Given the description of an element on the screen output the (x, y) to click on. 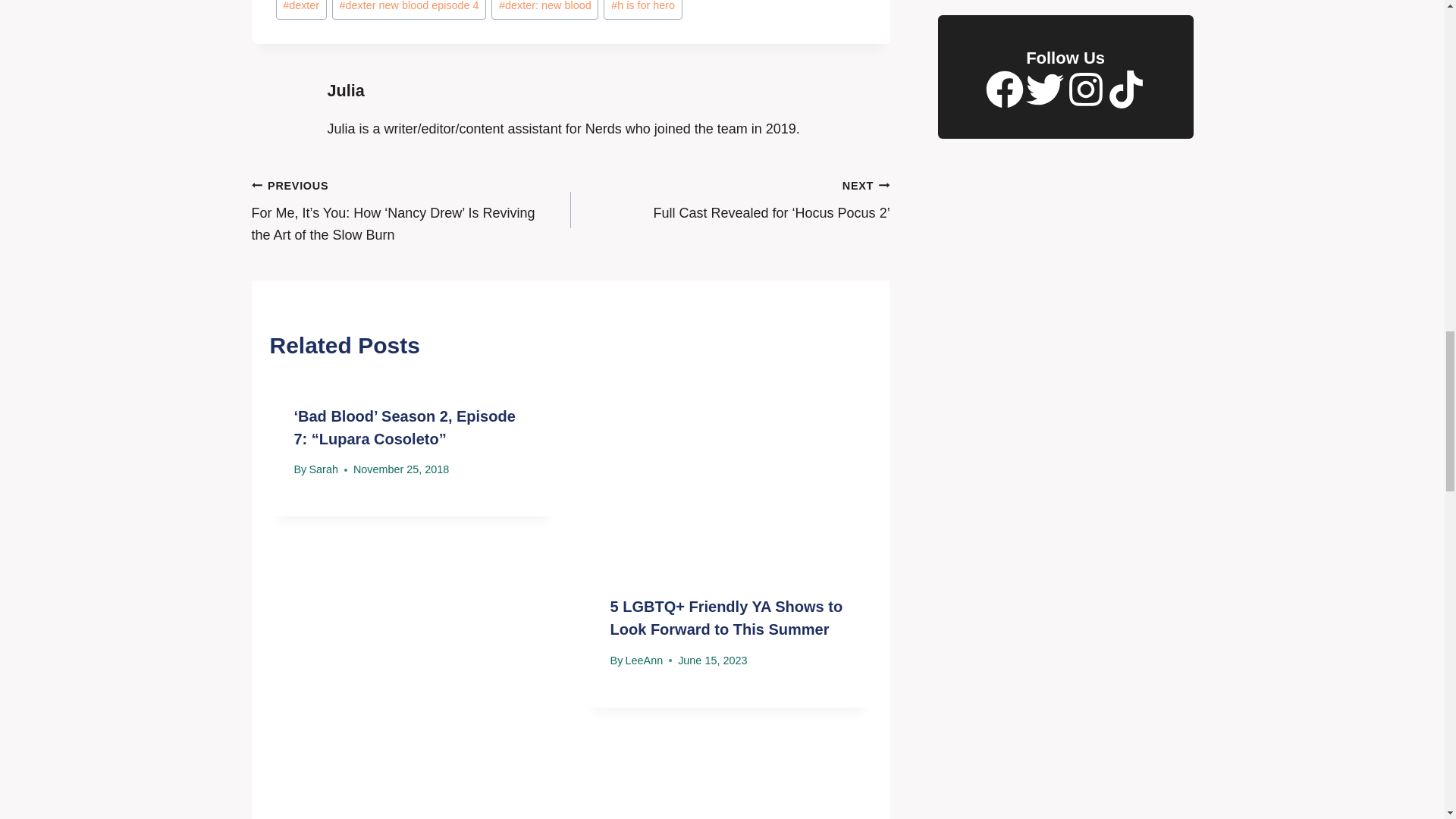
dexter (301, 10)
Posts by Julia (346, 90)
dexter: new blood (545, 10)
dexter new blood episode 4 (408, 10)
h is for hero (642, 10)
